Given the description of an element on the screen output the (x, y) to click on. 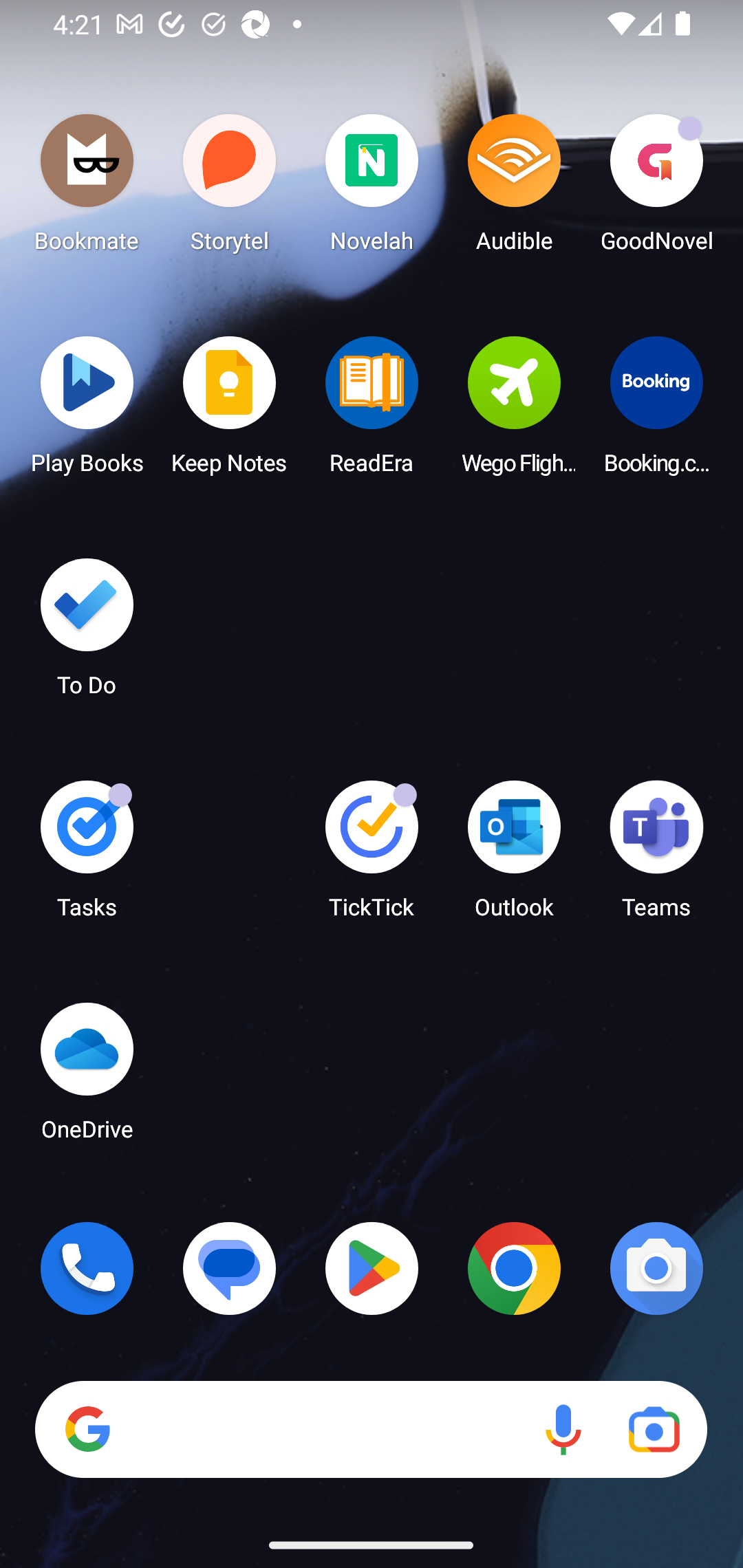
Bookmate (86, 188)
Storytel (229, 188)
Novelah (371, 188)
Audible (513, 188)
GoodNovel GoodNovel has 1 notification (656, 188)
Play Books (86, 410)
Keep Notes (229, 410)
ReadEra (371, 410)
Wego Flights & Hotels (513, 410)
Booking.com (656, 410)
To Do (86, 633)
Tasks Tasks has 1 notification (86, 854)
TickTick TickTick has 3 notifications (371, 854)
Outlook (513, 854)
Teams (656, 854)
OneDrive (86, 1076)
Phone (86, 1268)
Messages (229, 1268)
Play Store (371, 1268)
Chrome (513, 1268)
Camera (656, 1268)
Search Voice search Google Lens (370, 1429)
Voice search (562, 1429)
Google Lens (653, 1429)
